Given the description of an element on the screen output the (x, y) to click on. 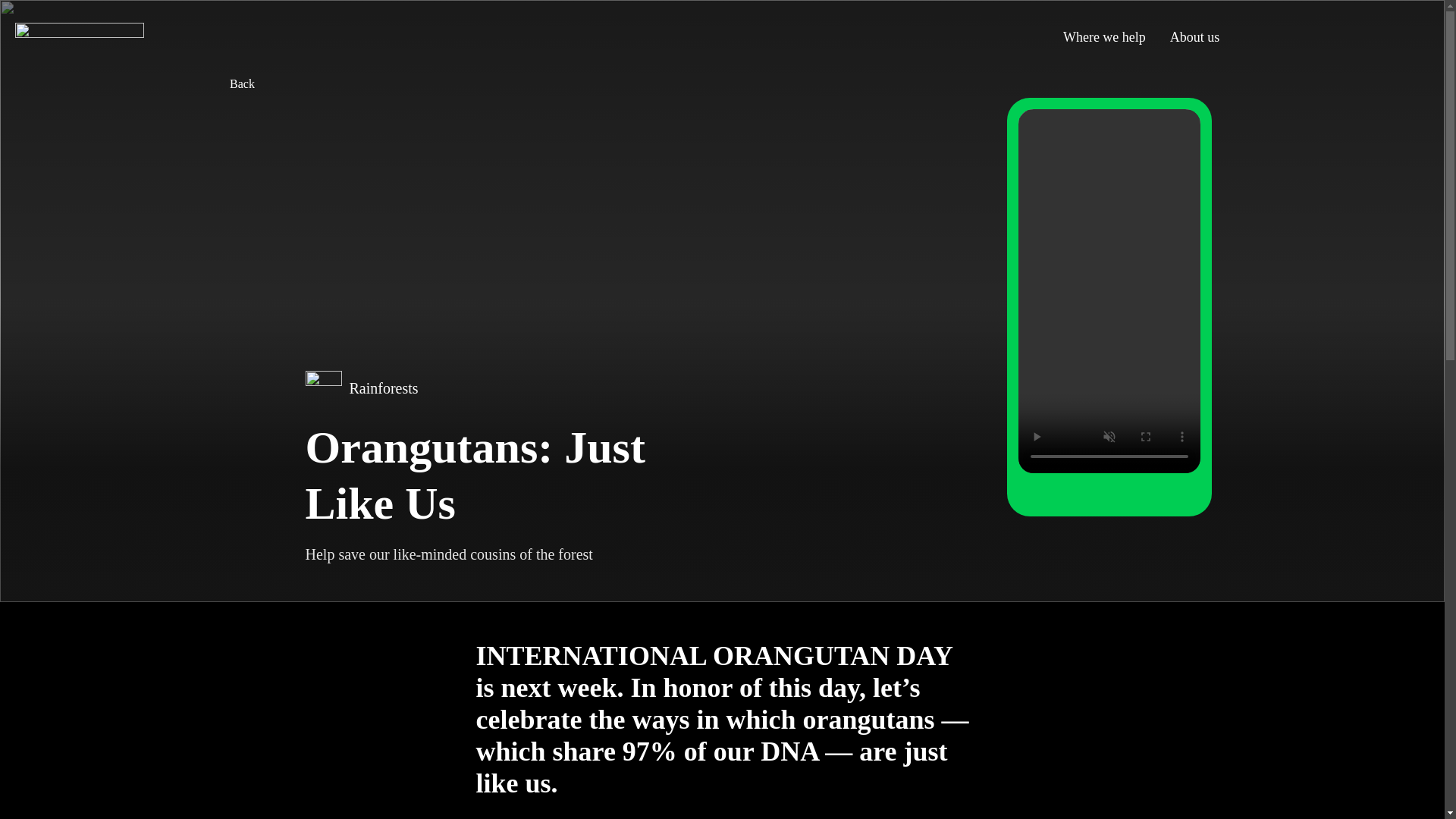
Back (722, 83)
Where we help (1104, 36)
About us (1194, 36)
logo (79, 36)
Rainforests (490, 389)
